Given the description of an element on the screen output the (x, y) to click on. 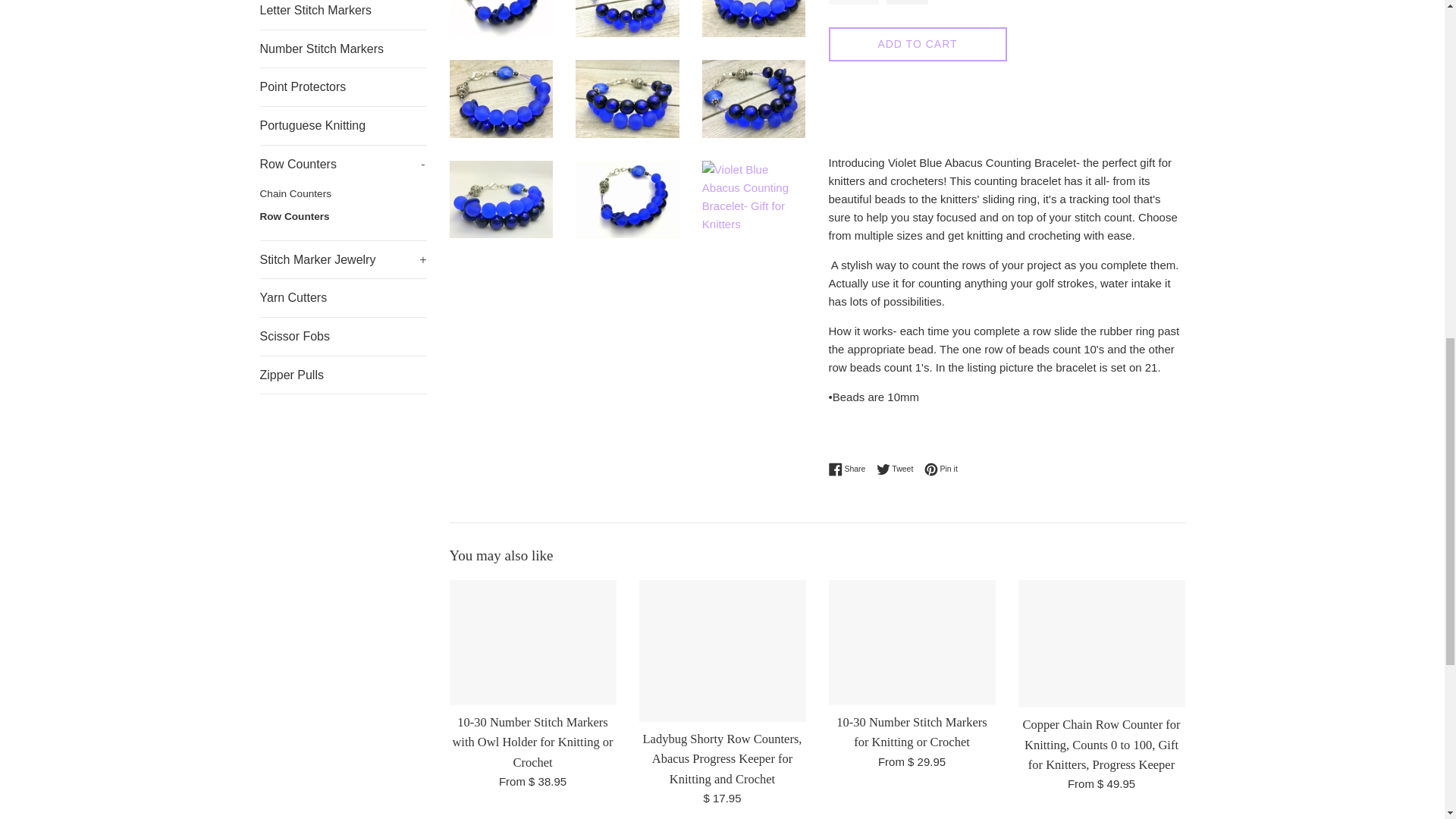
10-30 Number Stitch Markers for Knitting or Crochet (911, 642)
Tweet on Twitter (898, 468)
Letter Stitch Markers (342, 14)
Chain Counters (342, 193)
Pin on Pinterest (941, 468)
Number Stitch Markers (342, 48)
Row Counters (342, 216)
Portuguese Knitting (342, 125)
Share on Facebook (850, 468)
